Given the description of an element on the screen output the (x, y) to click on. 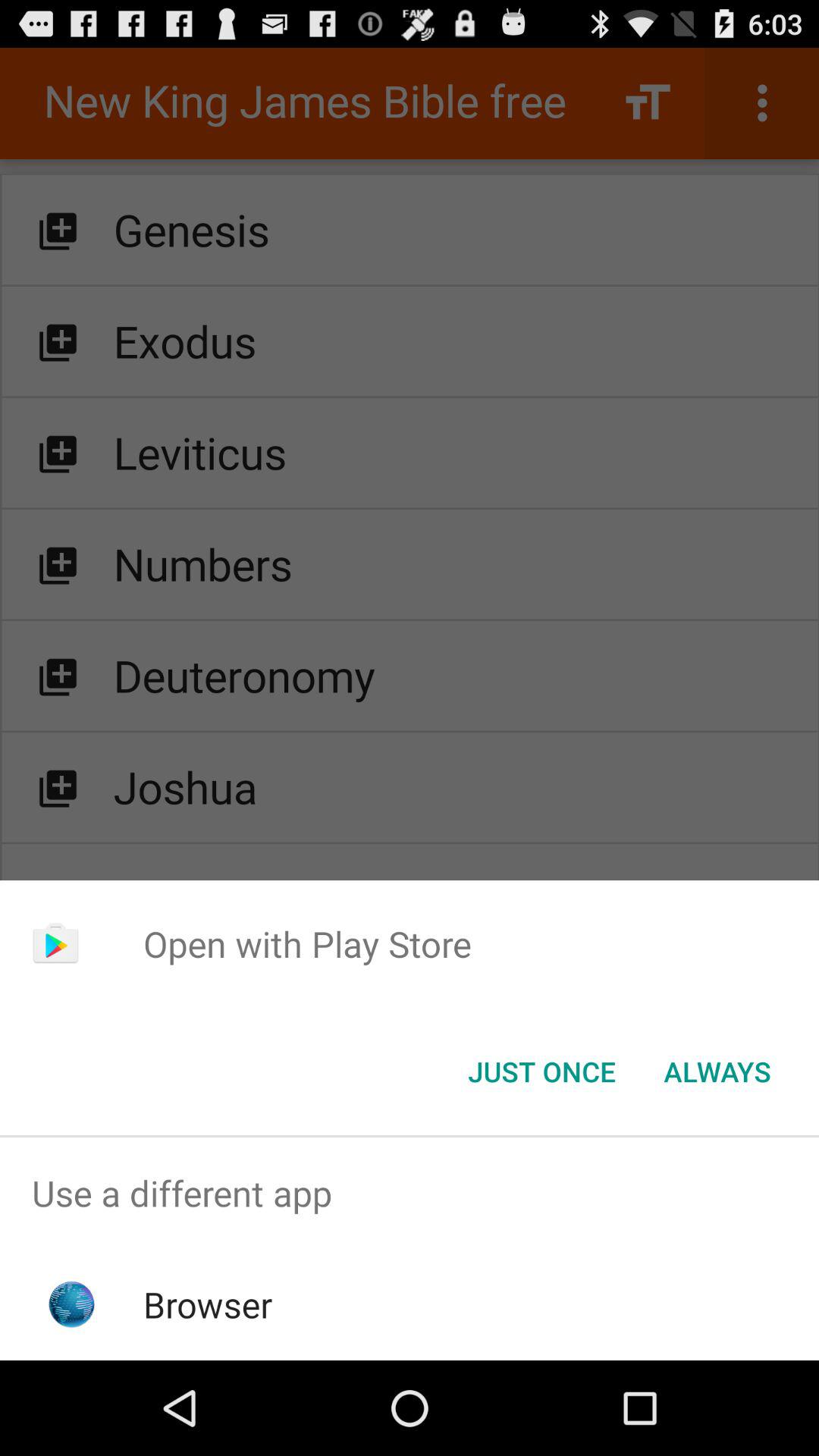
turn off always item (717, 1071)
